Given the description of an element on the screen output the (x, y) to click on. 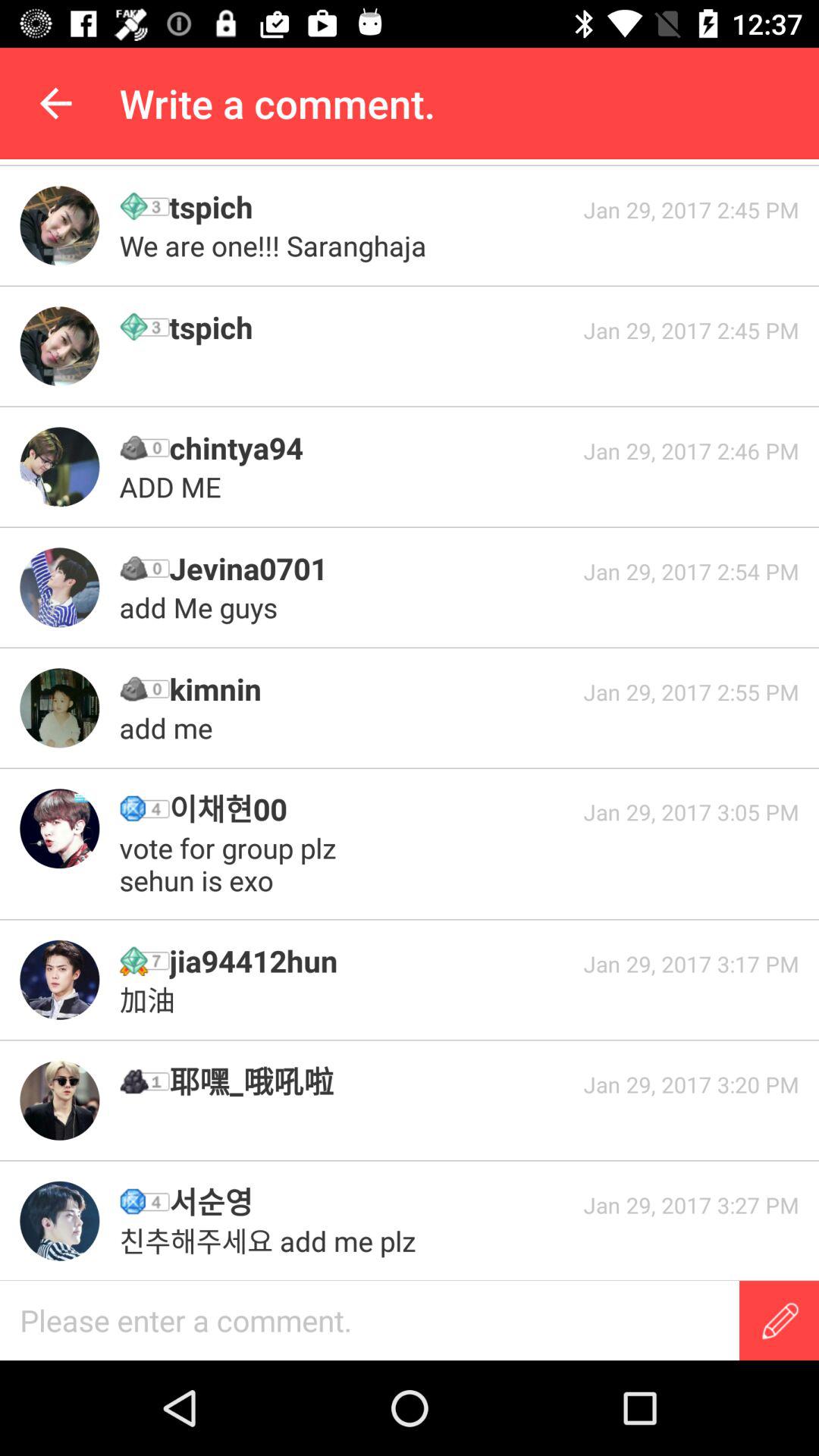
open profile (59, 225)
